Given the description of an element on the screen output the (x, y) to click on. 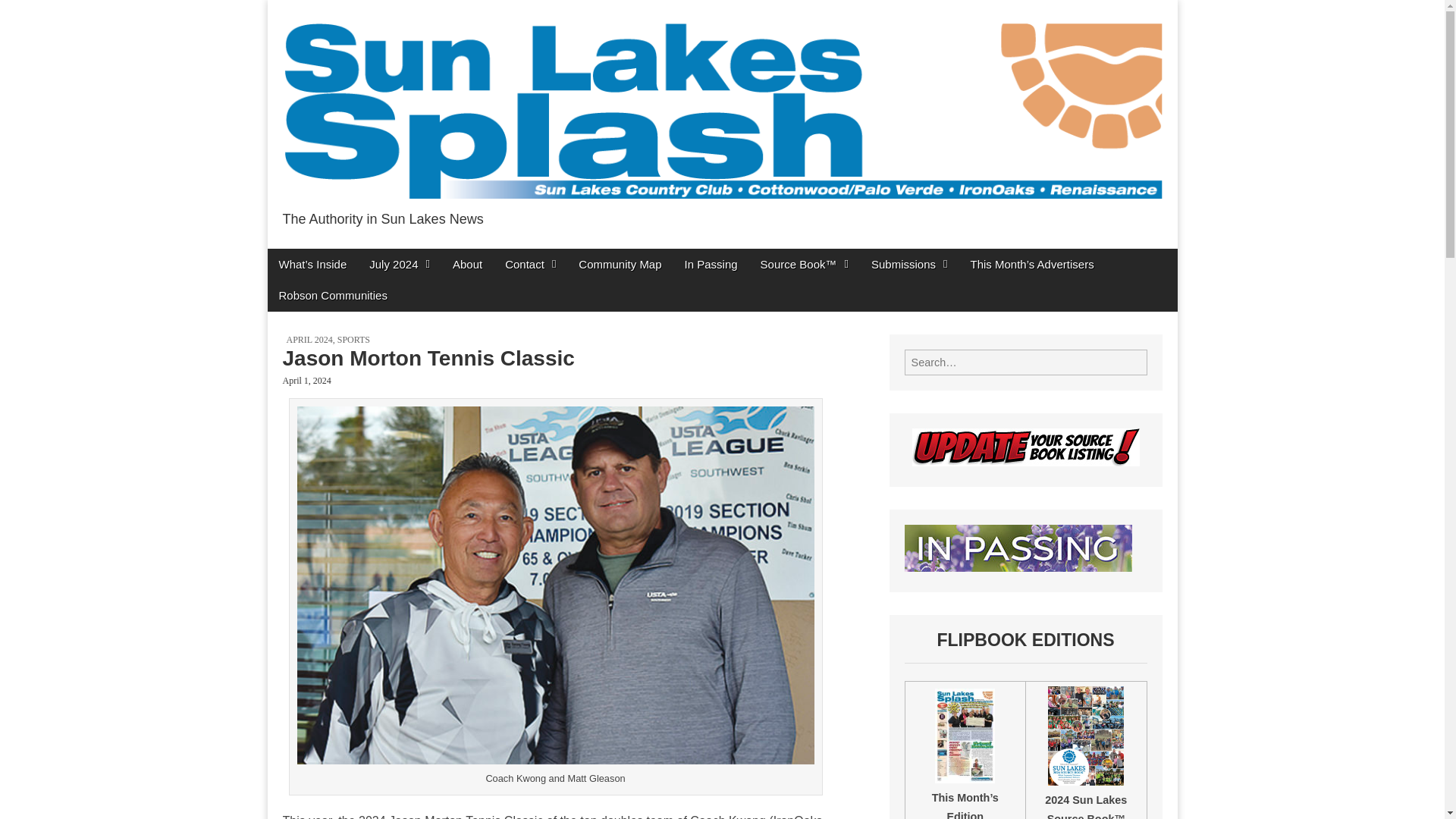
Submissions (909, 264)
Sun Lakes Splash (438, 252)
Contact (530, 264)
Sun Lakes Splash (438, 252)
Community Map (619, 264)
In Passing (710, 264)
Skip to content (304, 257)
July 2024 (399, 264)
Skip to content (304, 257)
About (467, 264)
